Given the description of an element on the screen output the (x, y) to click on. 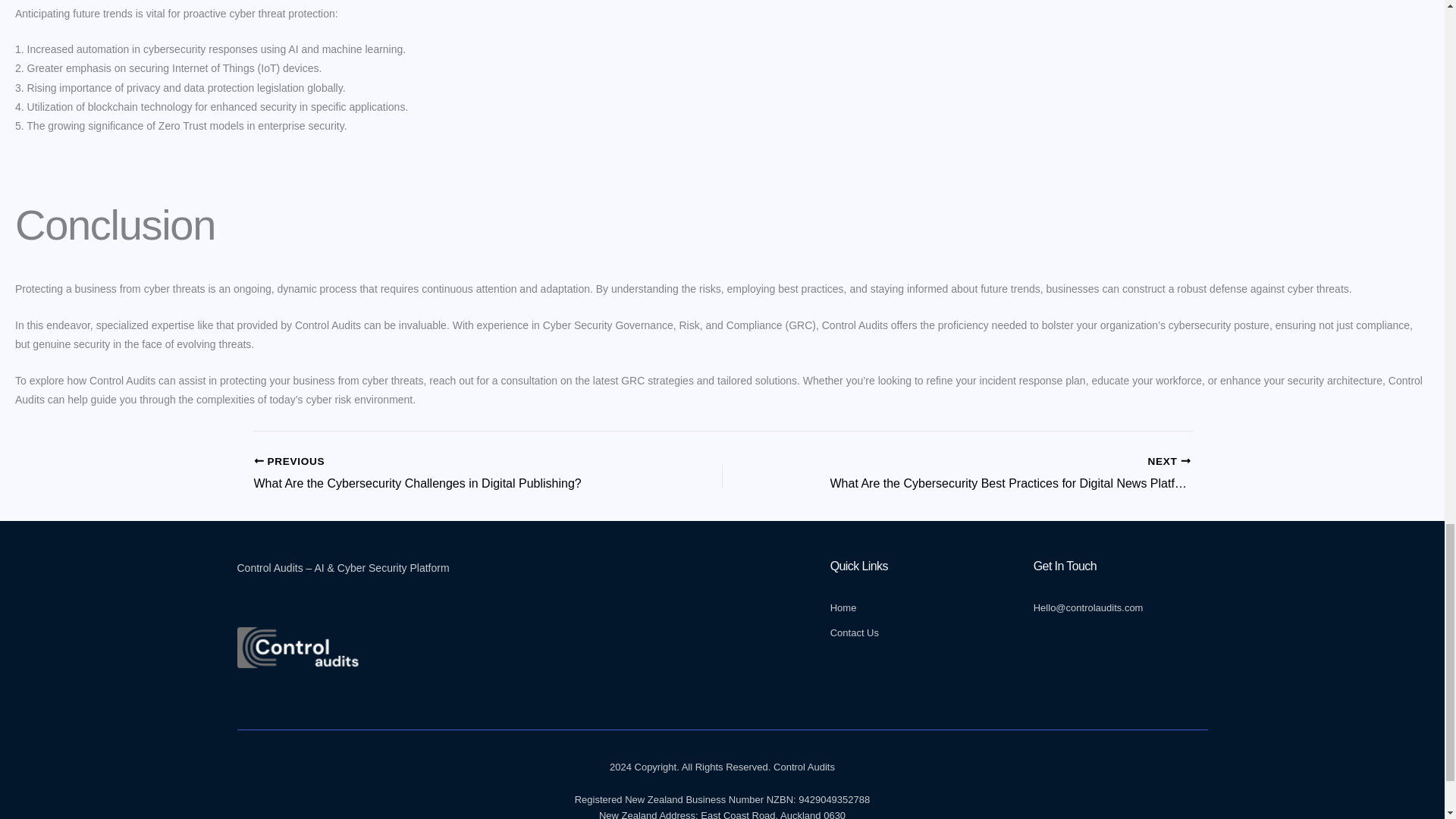
Home (916, 608)
Contact Us (916, 633)
What Are the Cybersecurity Challenges in Digital Publishing? (440, 473)
